Given the description of an element on the screen output the (x, y) to click on. 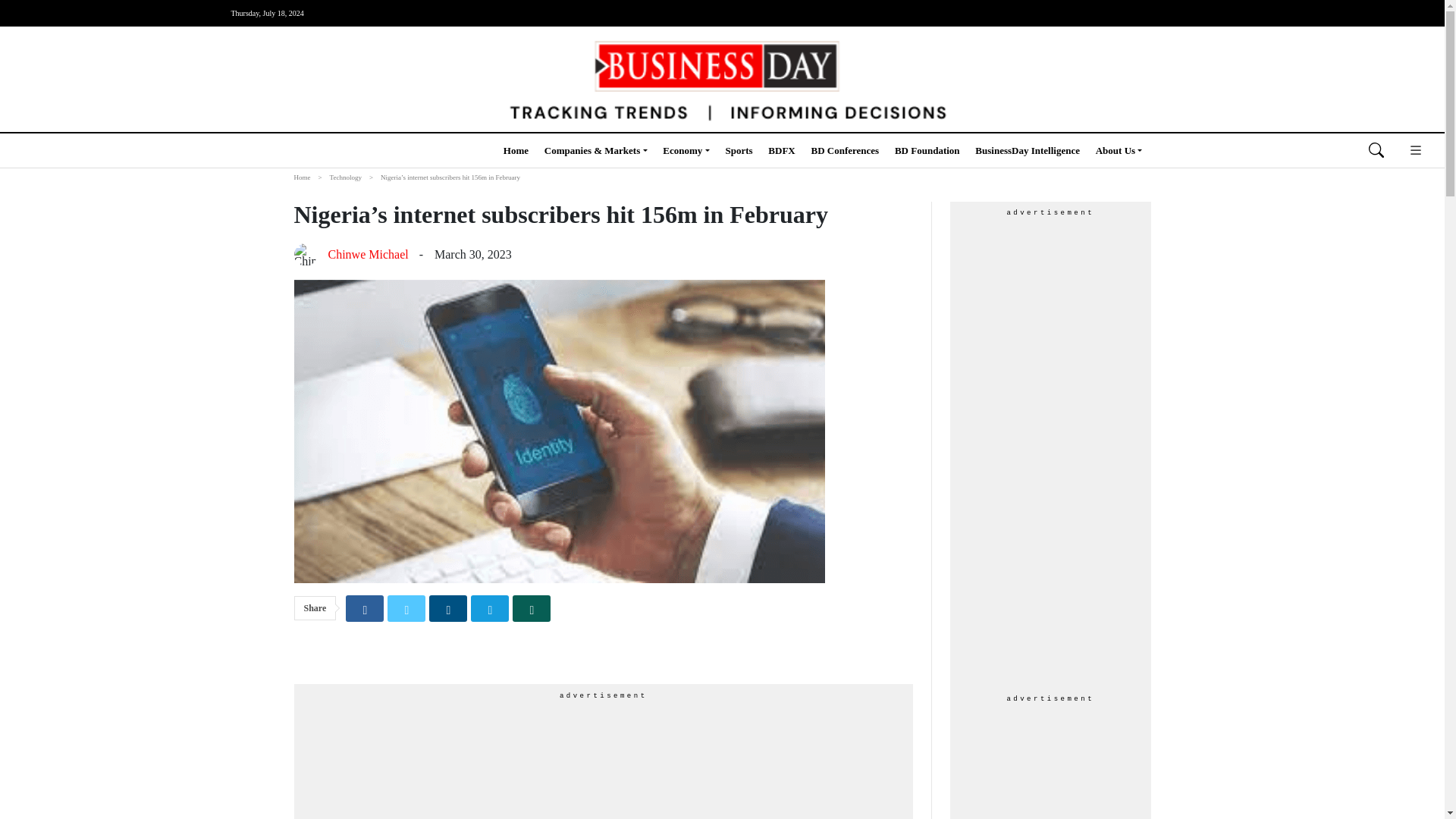
BD Conferences (844, 149)
BD Conferences (844, 149)
About Us (1119, 149)
Economy (685, 149)
BusinessDay Intelligence (1027, 149)
BusinessDay Intelligence (1027, 149)
BD Foundation (927, 149)
Economy (685, 149)
About Us (1119, 149)
BD Foundation (927, 149)
